Given the description of an element on the screen output the (x, y) to click on. 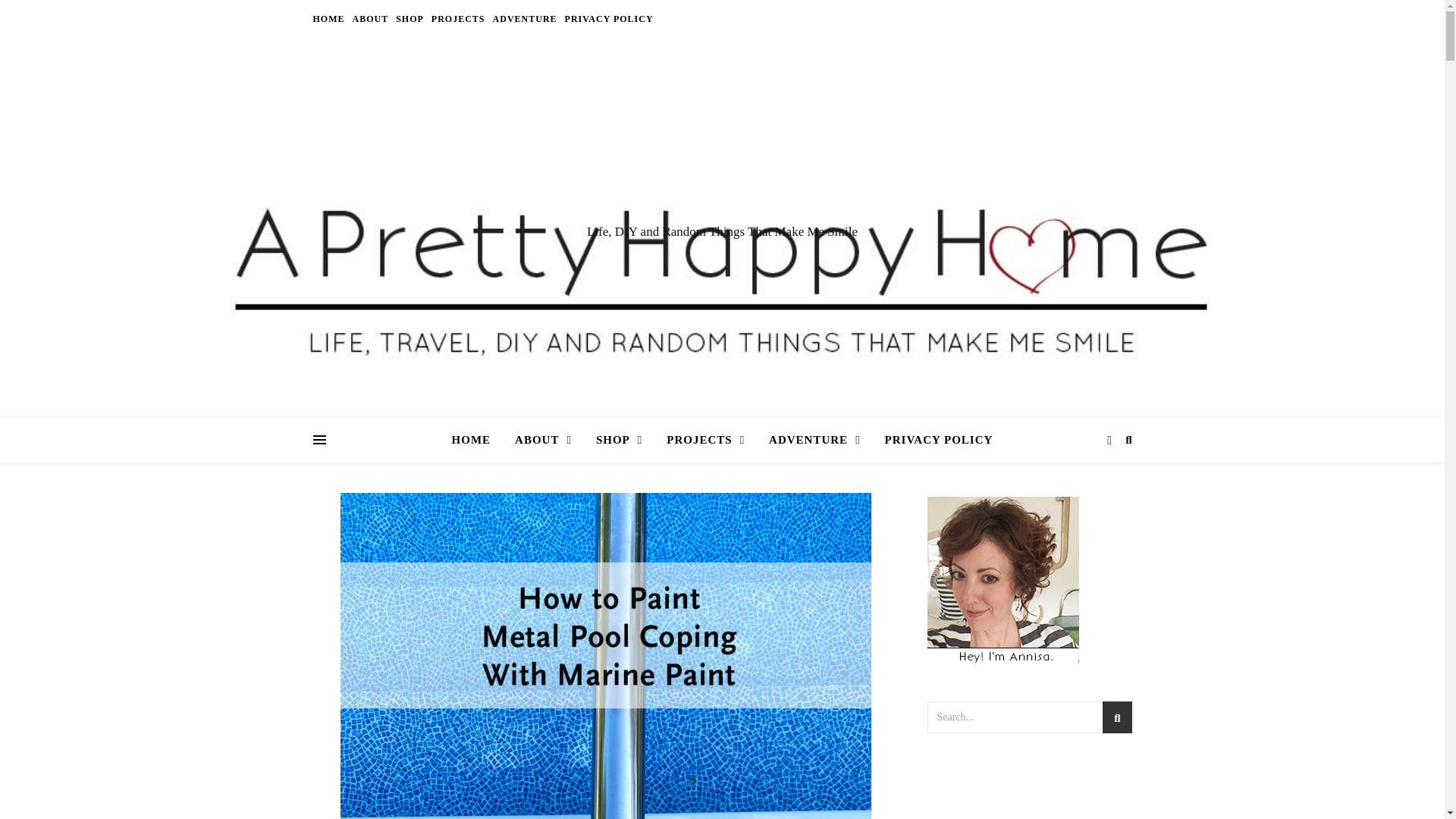
PRIVACY POLICY (606, 18)
HOME (477, 439)
PROJECTS (458, 18)
SHOP (618, 439)
SHOP (409, 18)
ABOUT (542, 439)
HOME (330, 18)
ABOUT (371, 18)
ADVENTURE (524, 18)
